Given the description of an element on the screen output the (x, y) to click on. 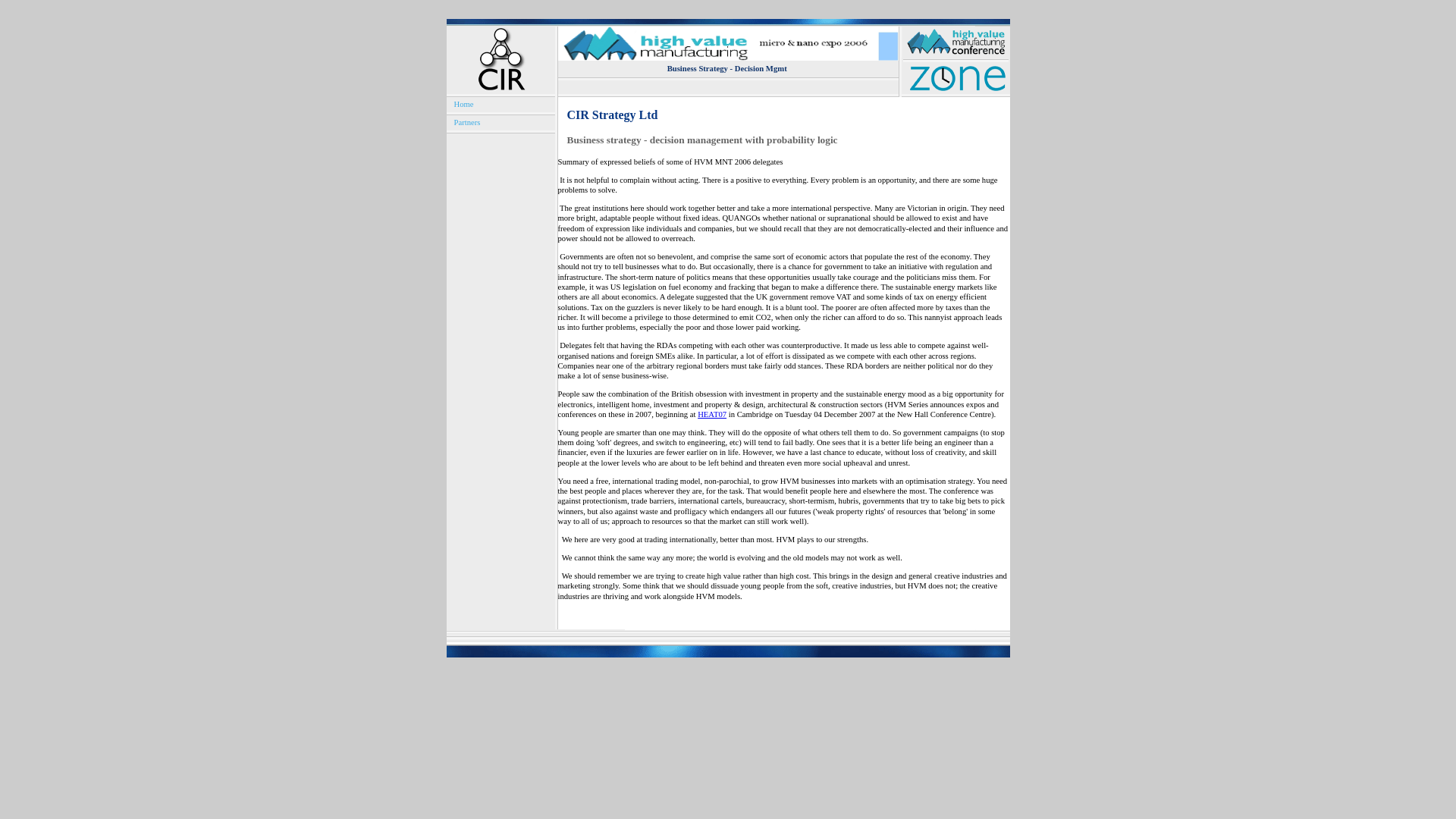
HEAT07 (711, 414)
Partners (466, 121)
Home (462, 103)
Business Strategy - Decision Mgmt (726, 68)
